Given the description of an element on the screen output the (x, y) to click on. 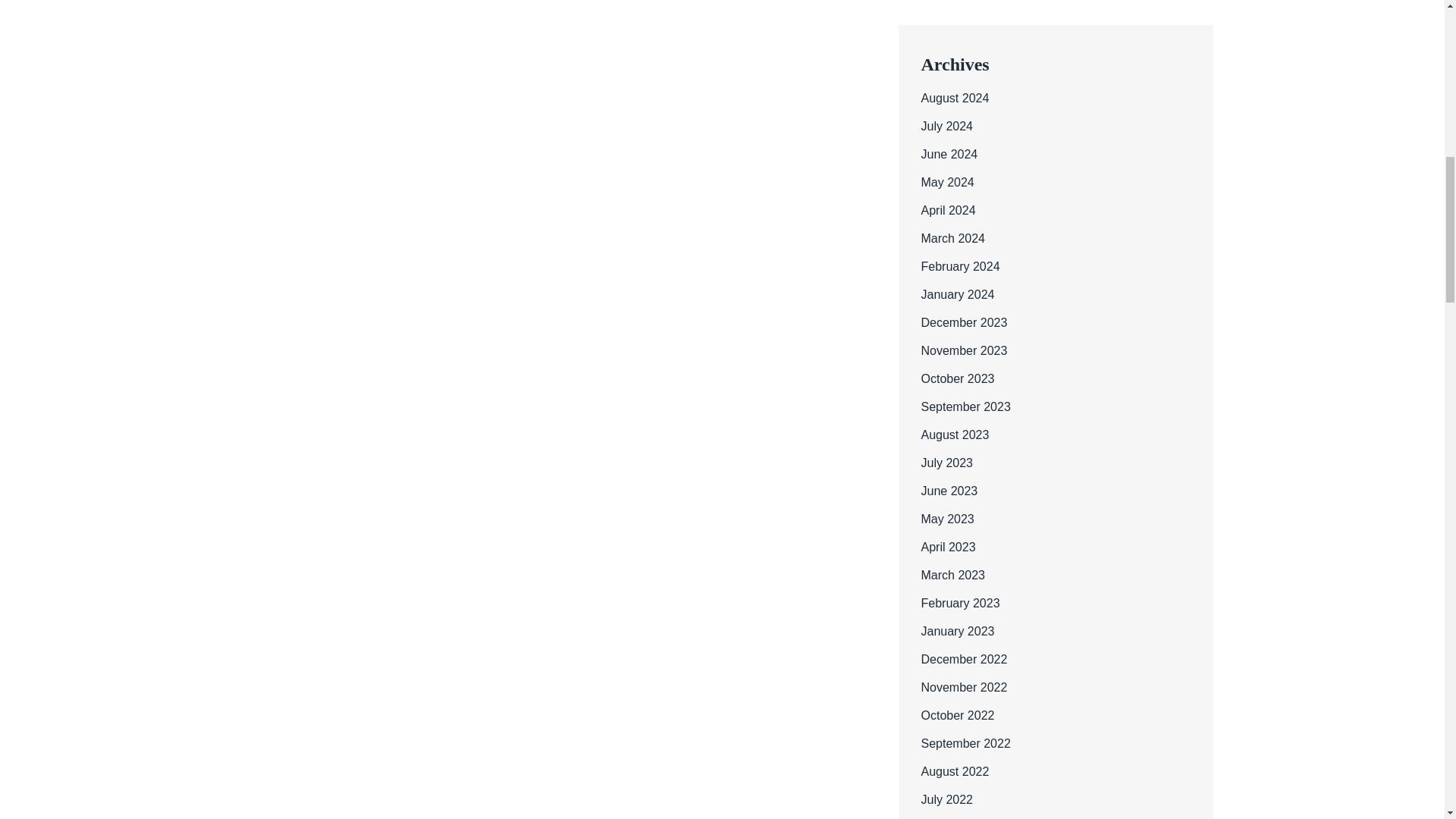
October 2023 (957, 378)
May 2023 (947, 518)
September 2023 (965, 406)
January 2024 (957, 294)
March 2024 (952, 237)
March 2023 (952, 574)
July 2023 (946, 462)
July 2024 (946, 125)
April 2023 (947, 546)
August 2023 (954, 434)
